Given the description of an element on the screen output the (x, y) to click on. 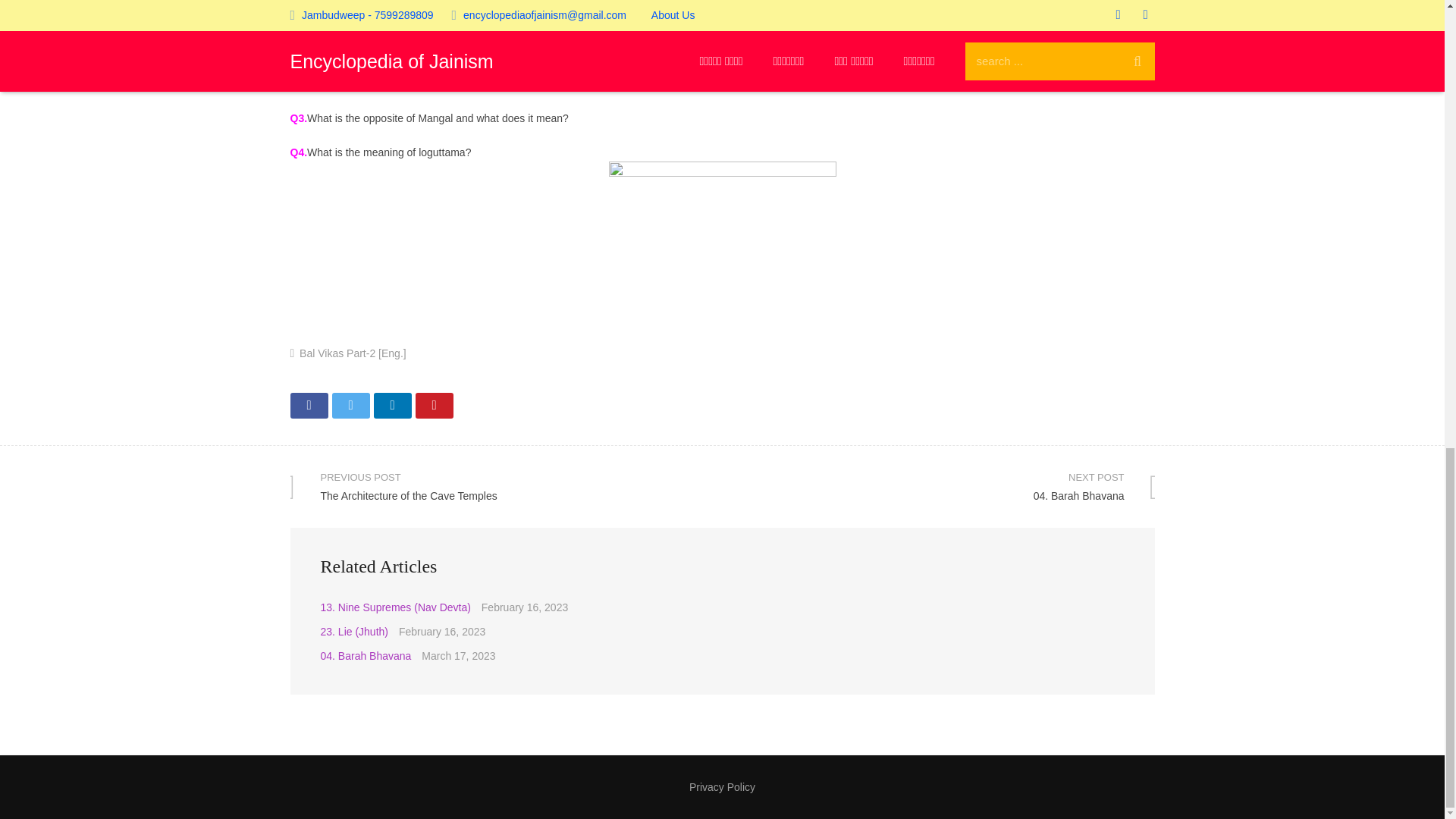
Share this (308, 405)
Tweet this (350, 405)
Share this (938, 486)
Privacy Policy (391, 405)
11. Filtered Water (721, 787)
Pin this (362, 631)
08. Asht Moolgun (505, 486)
